Given the description of an element on the screen output the (x, y) to click on. 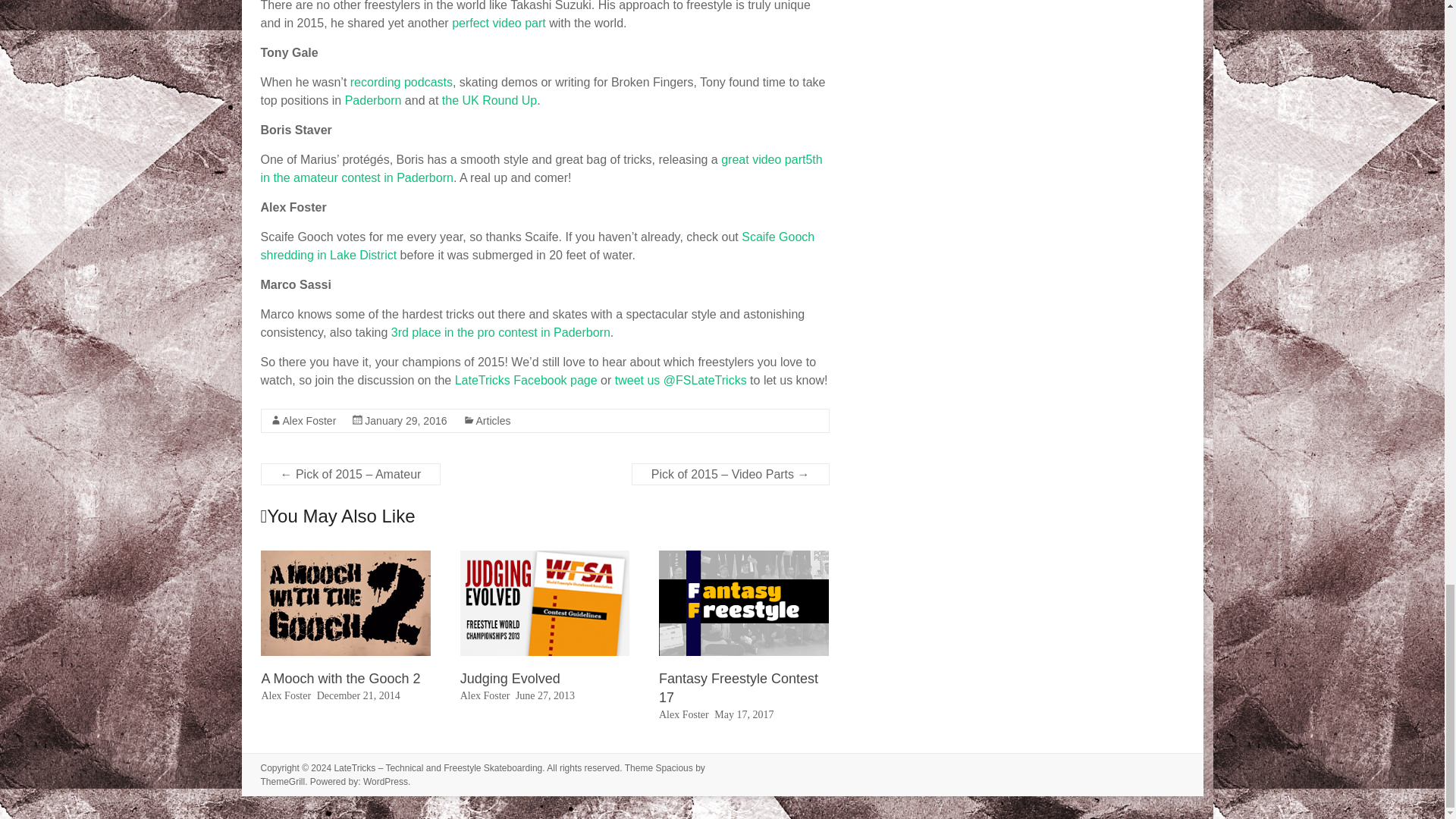
Fantasy Freestyle Contest 17 (743, 603)
Alex Foster (309, 420)
3rd place in the pro contest in Paderborn (500, 332)
Alex Foster (285, 695)
Judging Evolved (510, 678)
Judging Evolved (545, 603)
LateTricks Facebook page (525, 379)
A Mooch with the Gooch 2 (340, 678)
A Mooch with the Gooch 2 (340, 678)
Paderborn (373, 100)
